Given the description of an element on the screen output the (x, y) to click on. 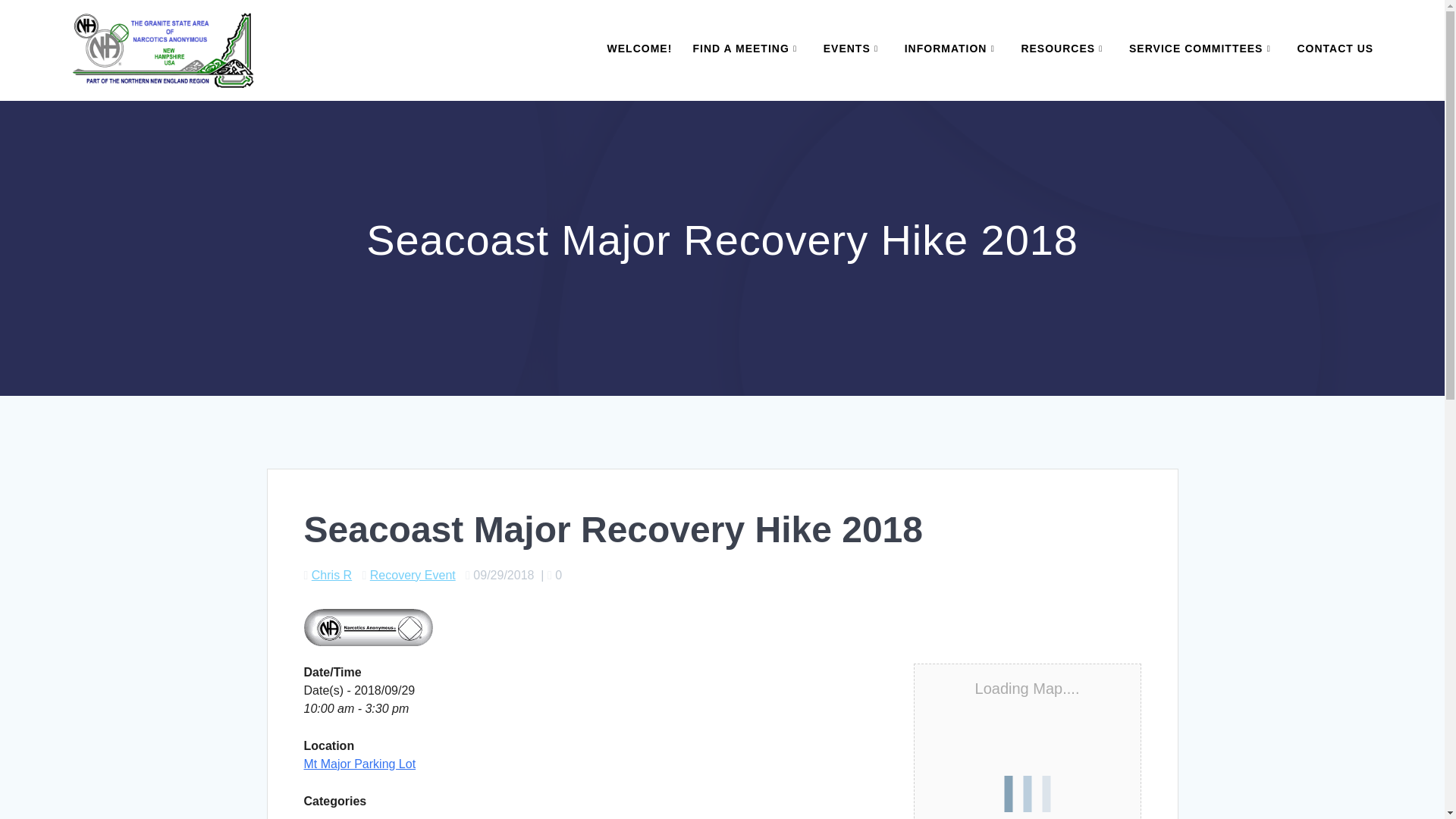
INFORMATION (952, 49)
WELCOME! (639, 49)
Posts by Chris R (331, 574)
RESOURCES (1064, 49)
EVENTS (853, 49)
FIND A MEETING (747, 49)
CONTACT US (1335, 49)
SERVICE COMMITTEES (1202, 49)
View all posts in Recovery Event (412, 574)
